Given the description of an element on the screen output the (x, y) to click on. 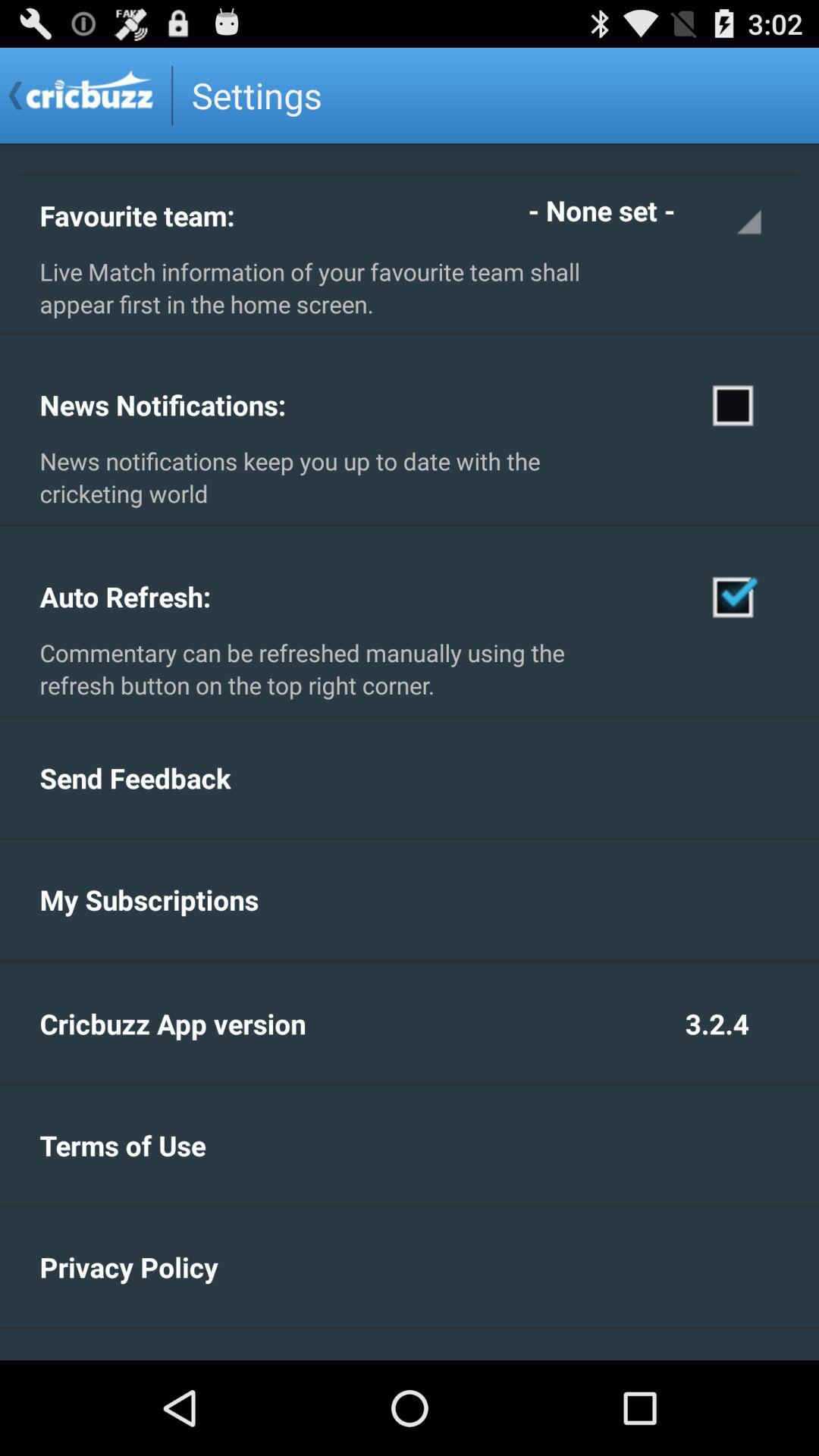
toggle news notification (733, 404)
